Given the description of an element on the screen output the (x, y) to click on. 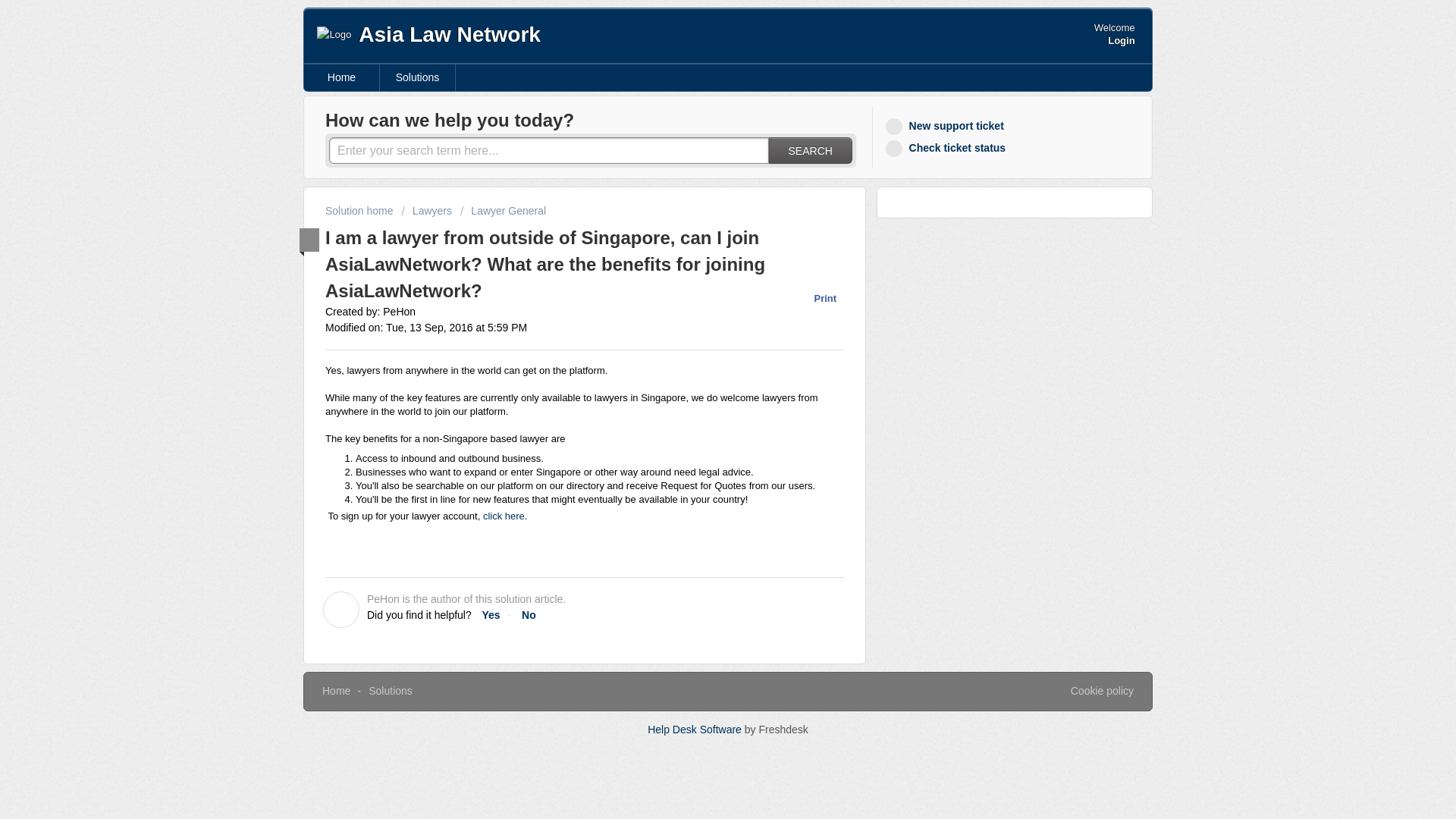
Home (335, 690)
SEARCH (809, 150)
Cookie policy (1102, 691)
New support ticket (946, 126)
Print (818, 298)
Why we love Cookies (1102, 691)
Help Desk Software (695, 729)
Solution home (360, 210)
Lawyer General (503, 210)
Print this Article (818, 298)
Check ticket status (947, 147)
click here (503, 515)
Solutions (417, 77)
Solutions (390, 690)
New support ticket (946, 126)
